Given the description of an element on the screen output the (x, y) to click on. 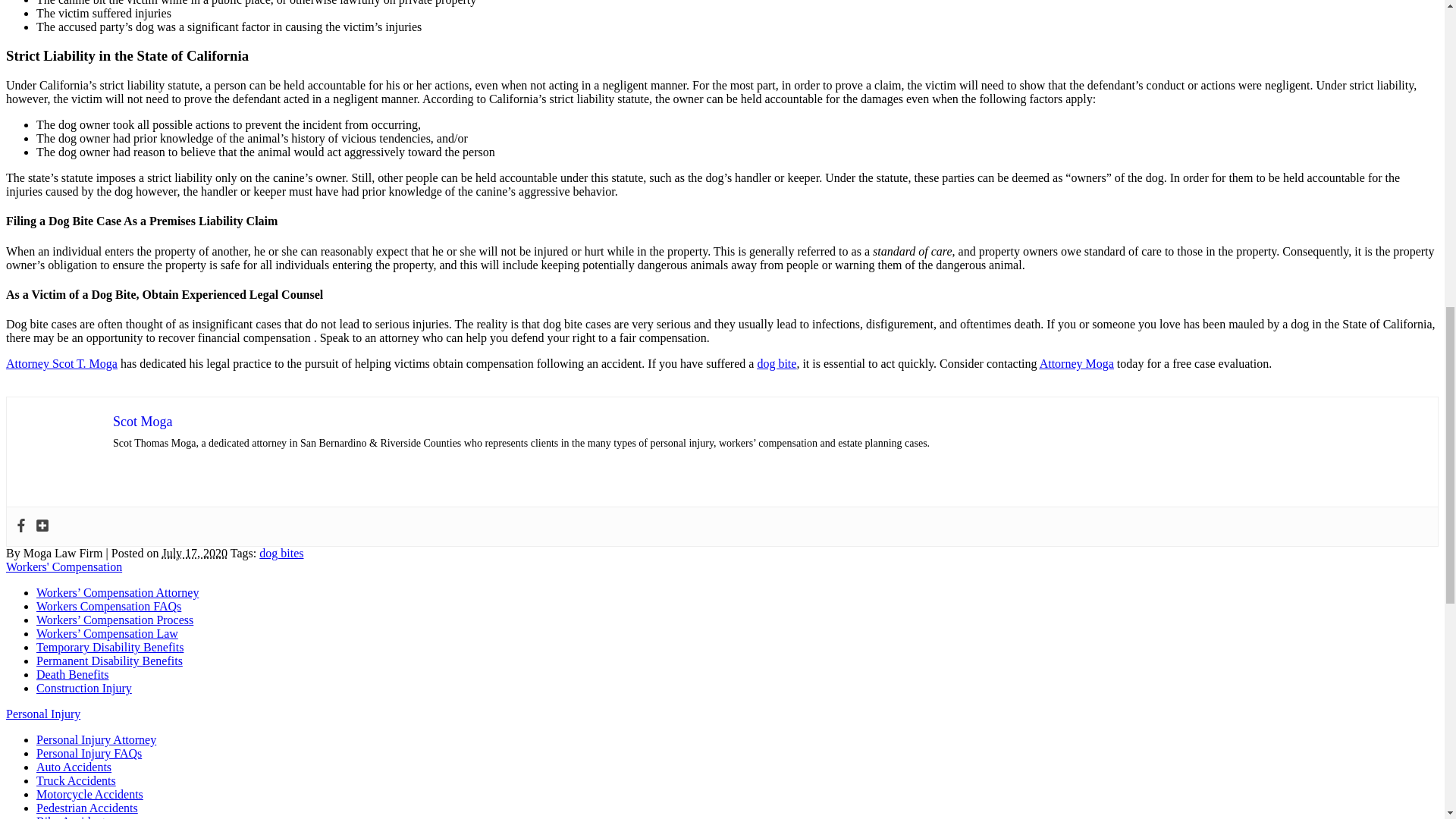
2020-07-17T13:19:55-0700 (194, 553)
